Given the description of an element on the screen output the (x, y) to click on. 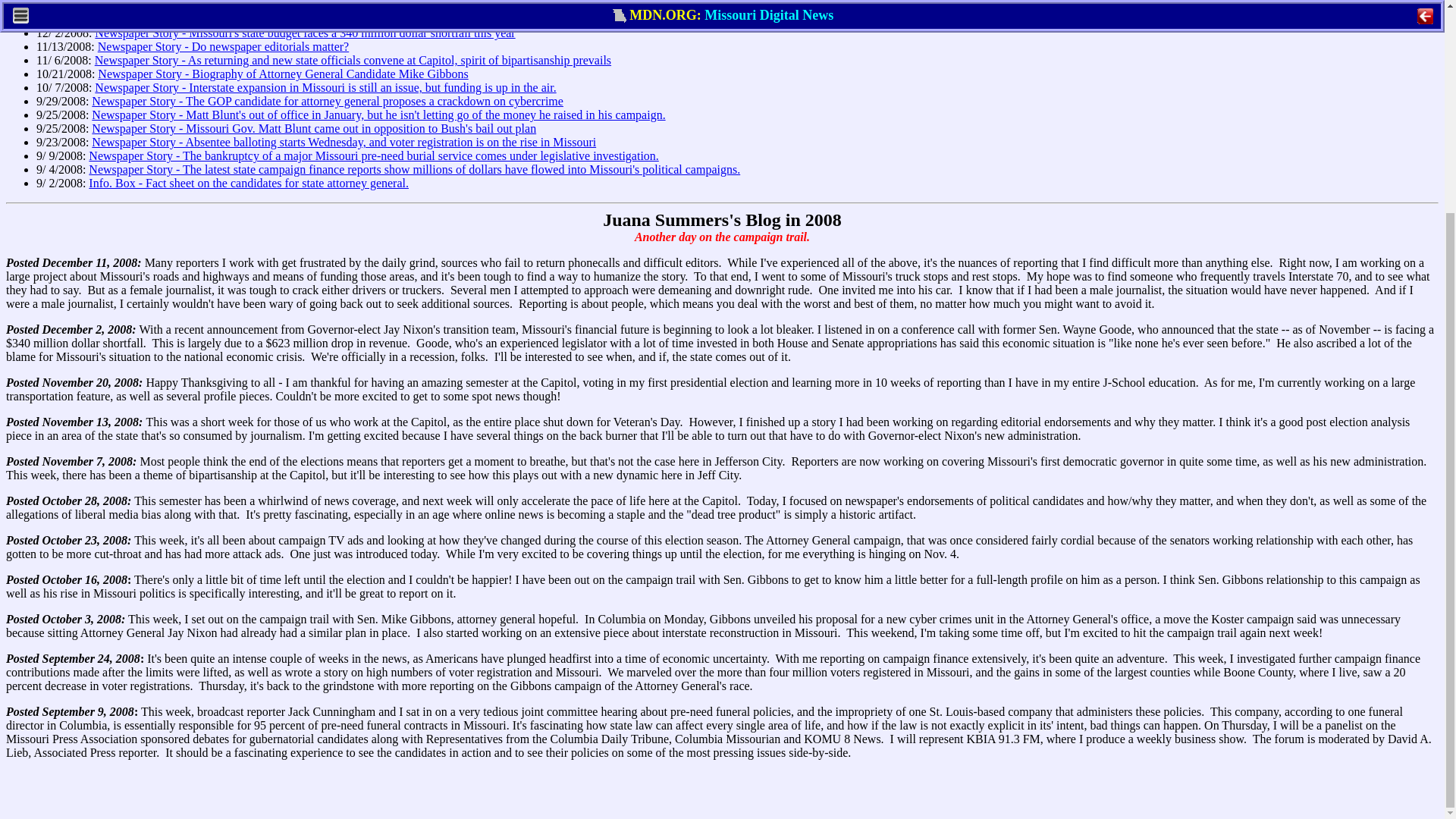
Newspaper Story - Do newspaper editorials matter? (223, 46)
